Given the description of an element on the screen output the (x, y) to click on. 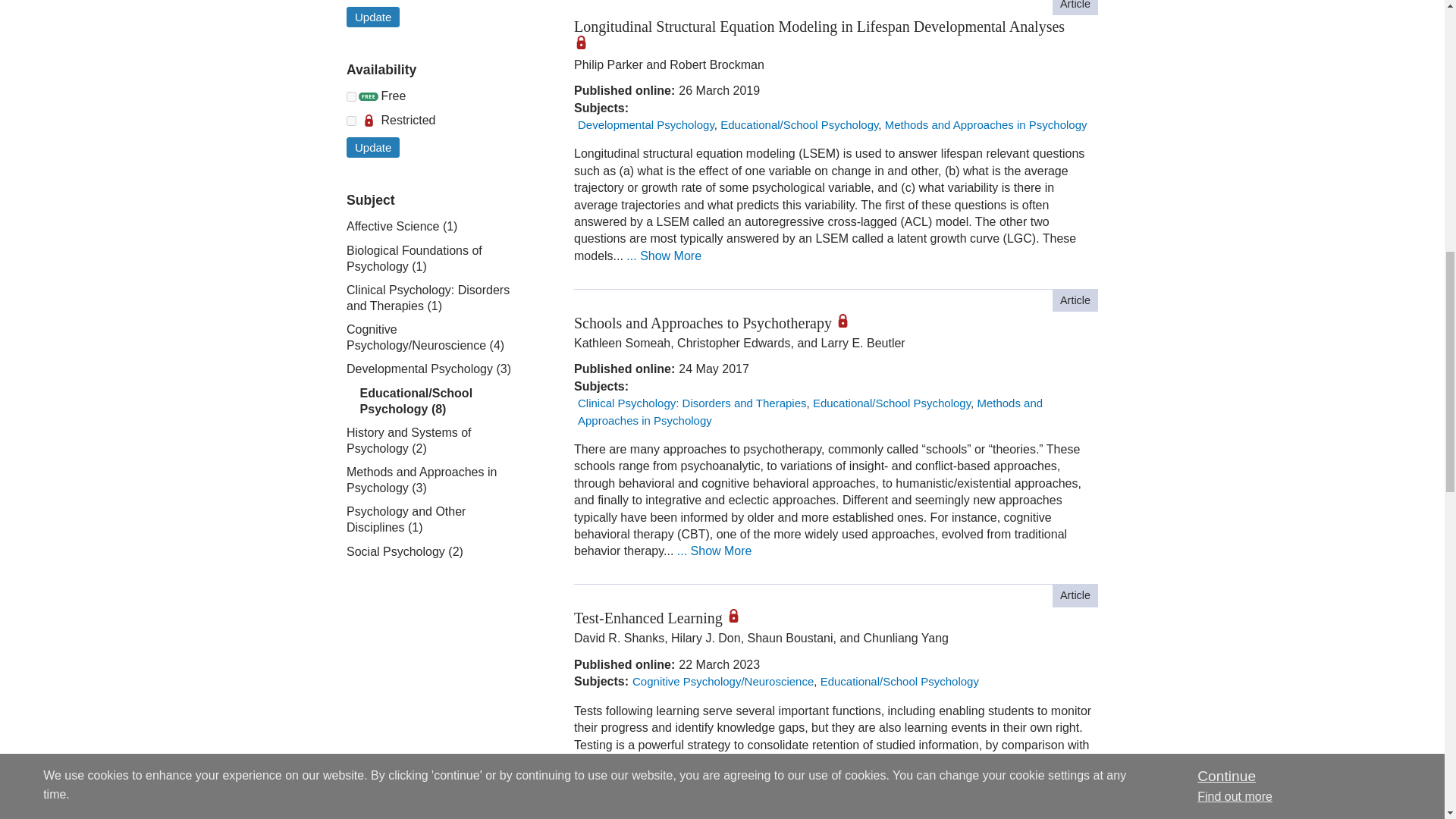
free (351, 96)
locked (351, 121)
